Given the description of an element on the screen output the (x, y) to click on. 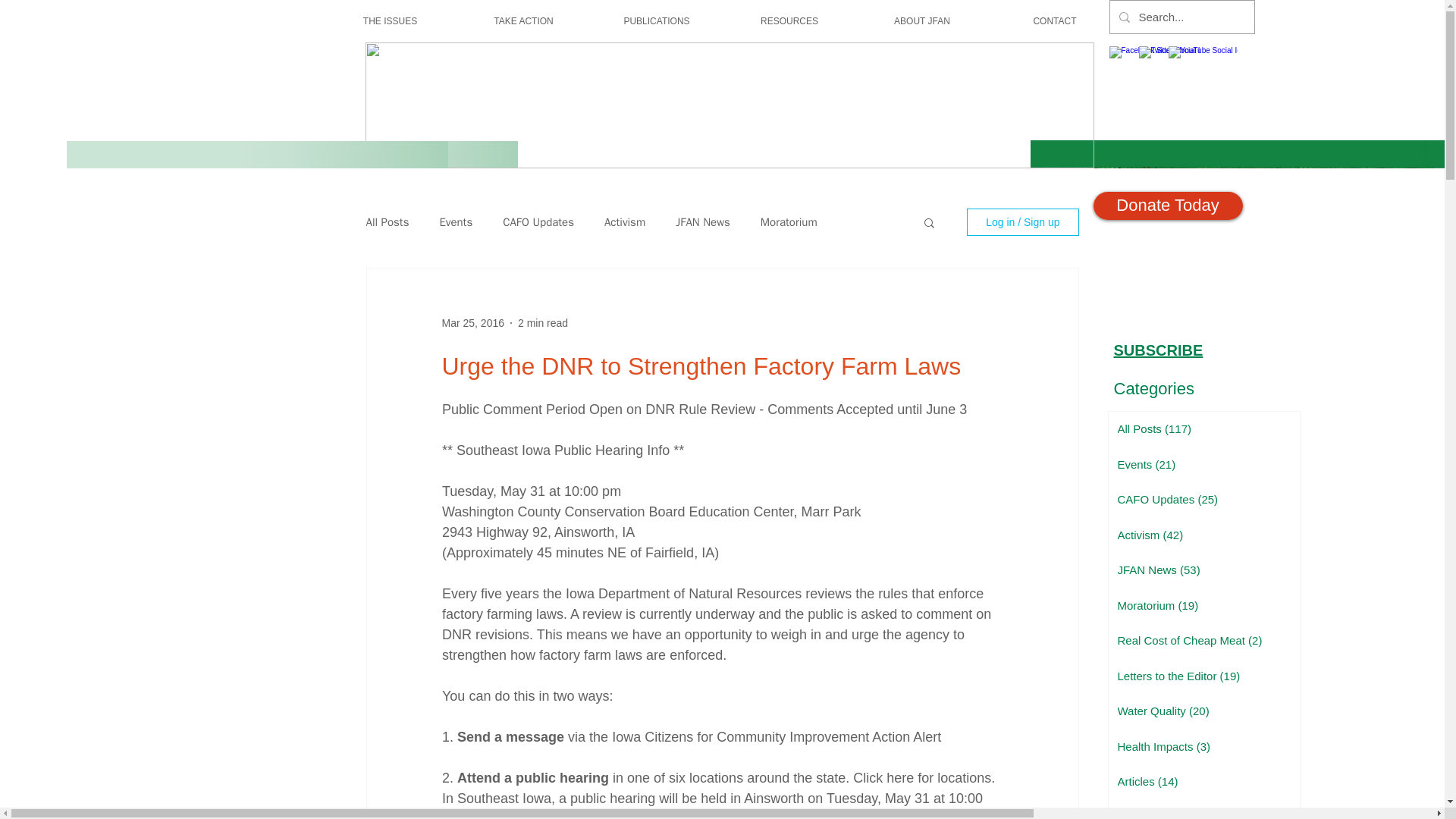
Mar 25, 2016 (472, 322)
2 min read (542, 322)
ABOUT JFAN (922, 21)
TAKE ACTION (523, 21)
THE ISSUES (390, 21)
